Given the description of an element on the screen output the (x, y) to click on. 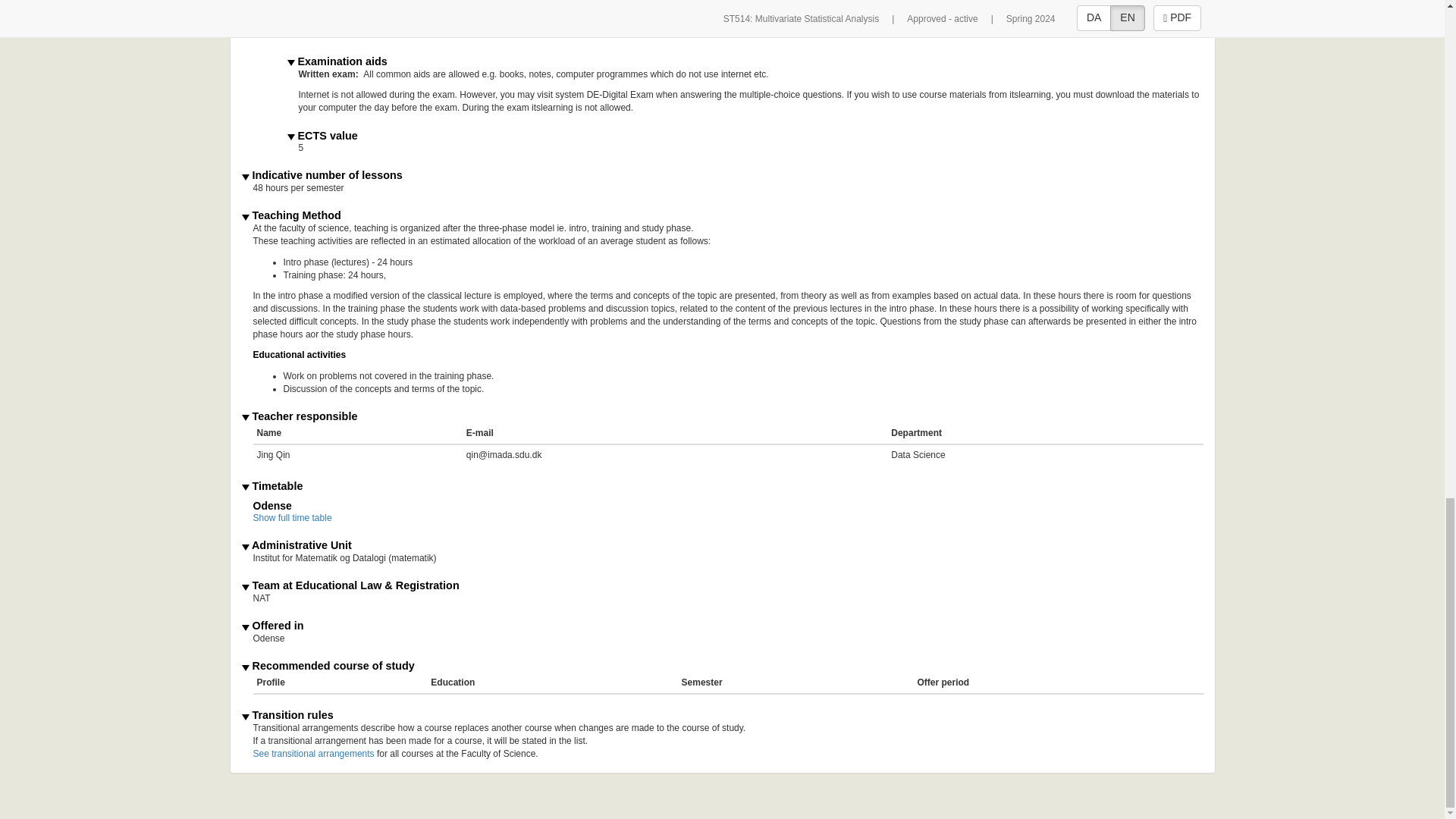
Show full time table (292, 517)
See transitional arrangements (313, 753)
